Given the description of an element on the screen output the (x, y) to click on. 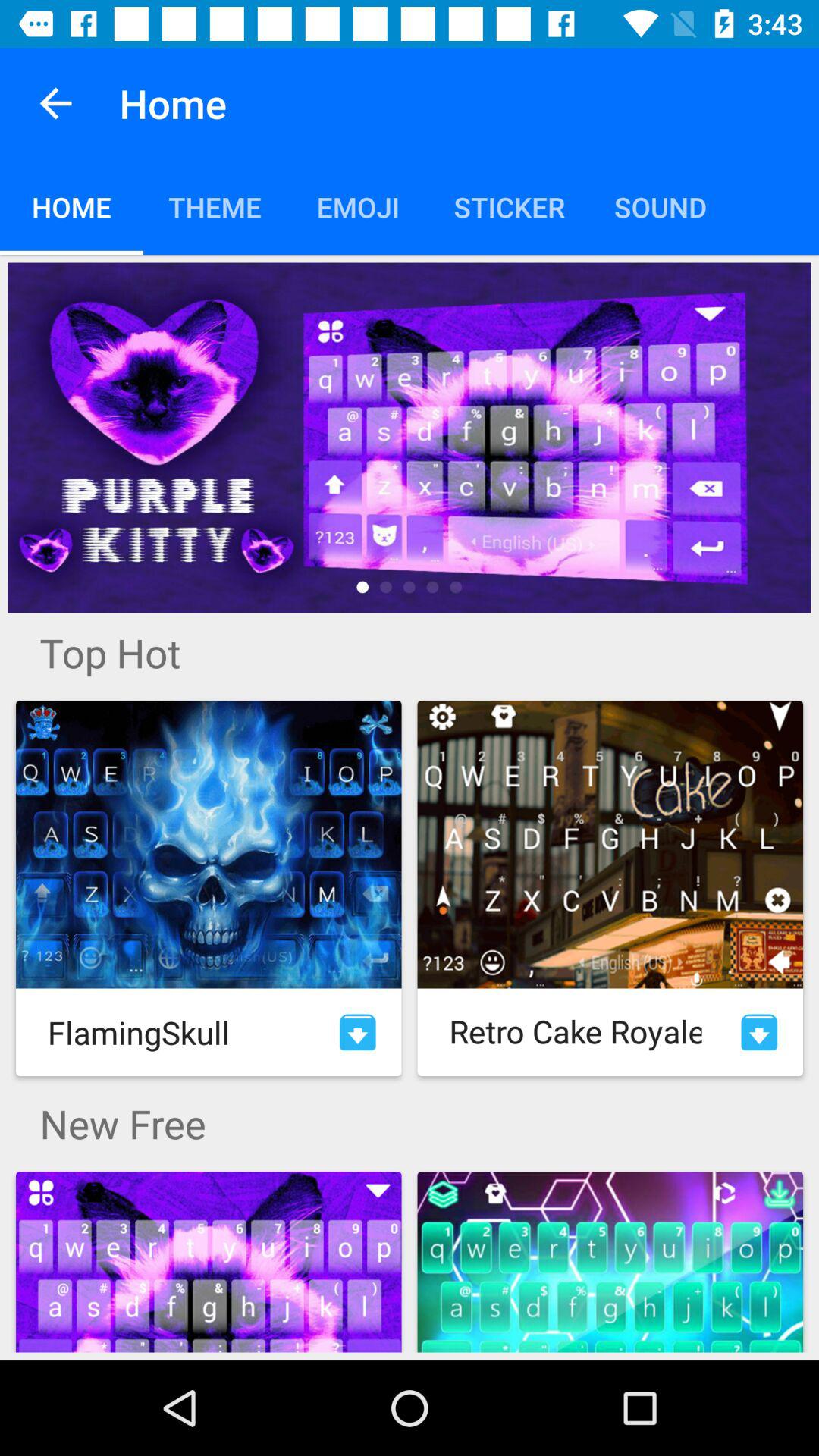
see more details (409, 437)
